Given the description of an element on the screen output the (x, y) to click on. 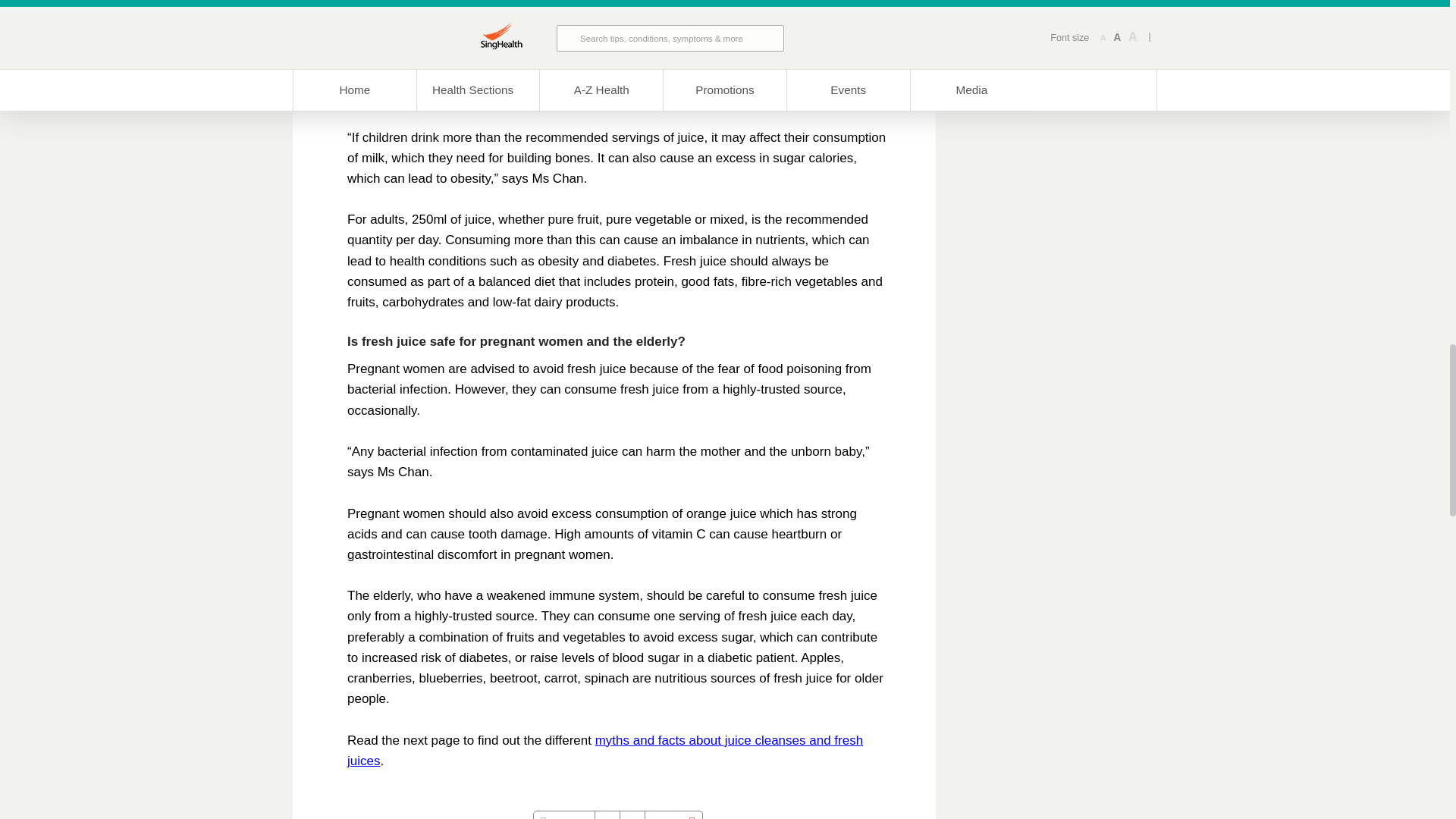
myths and facts about juice cleanses and fresh juices (605, 750)
